Given the description of an element on the screen output the (x, y) to click on. 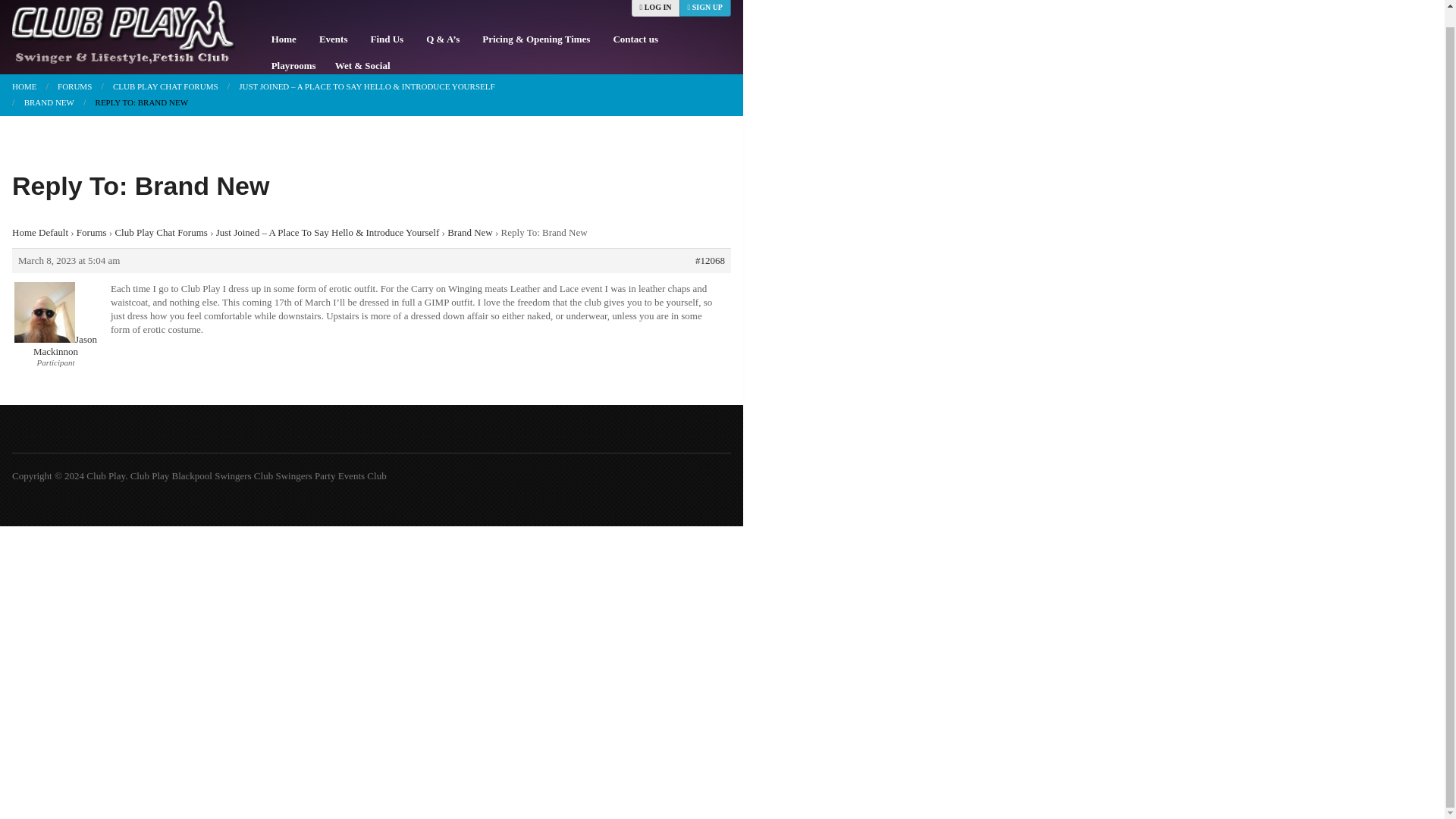
LOG IN (655, 8)
CLUB PLAY CHAT FORUMS (160, 85)
Playrooms (291, 65)
Club Play (23, 85)
Contact us (635, 38)
Events (333, 38)
Home (283, 38)
FORUMS (69, 85)
Club Play Chat Forums (160, 85)
View Jason Mackinnon's profile (55, 345)
